Given the description of an element on the screen output the (x, y) to click on. 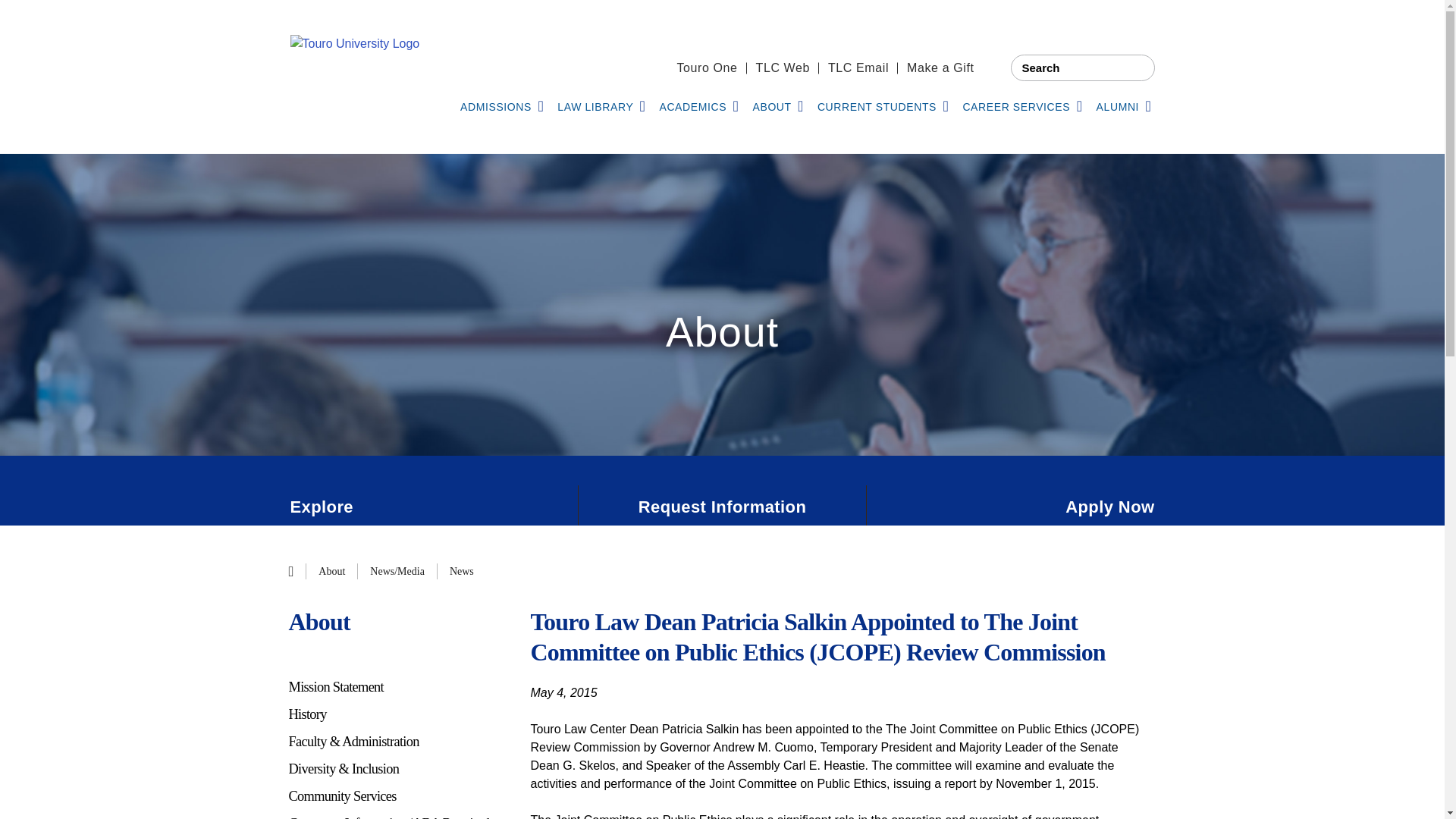
Link to Apply Now (1010, 506)
Link to About (331, 571)
Link to Community Services (396, 796)
Make a Gift (940, 68)
Link to History (396, 714)
Link to Touro One Header (706, 68)
Link to TLC Email (858, 68)
Link to Mission Statement (396, 687)
Link to News (461, 571)
Link to Make a Gift (940, 68)
